Given the description of an element on the screen output the (x, y) to click on. 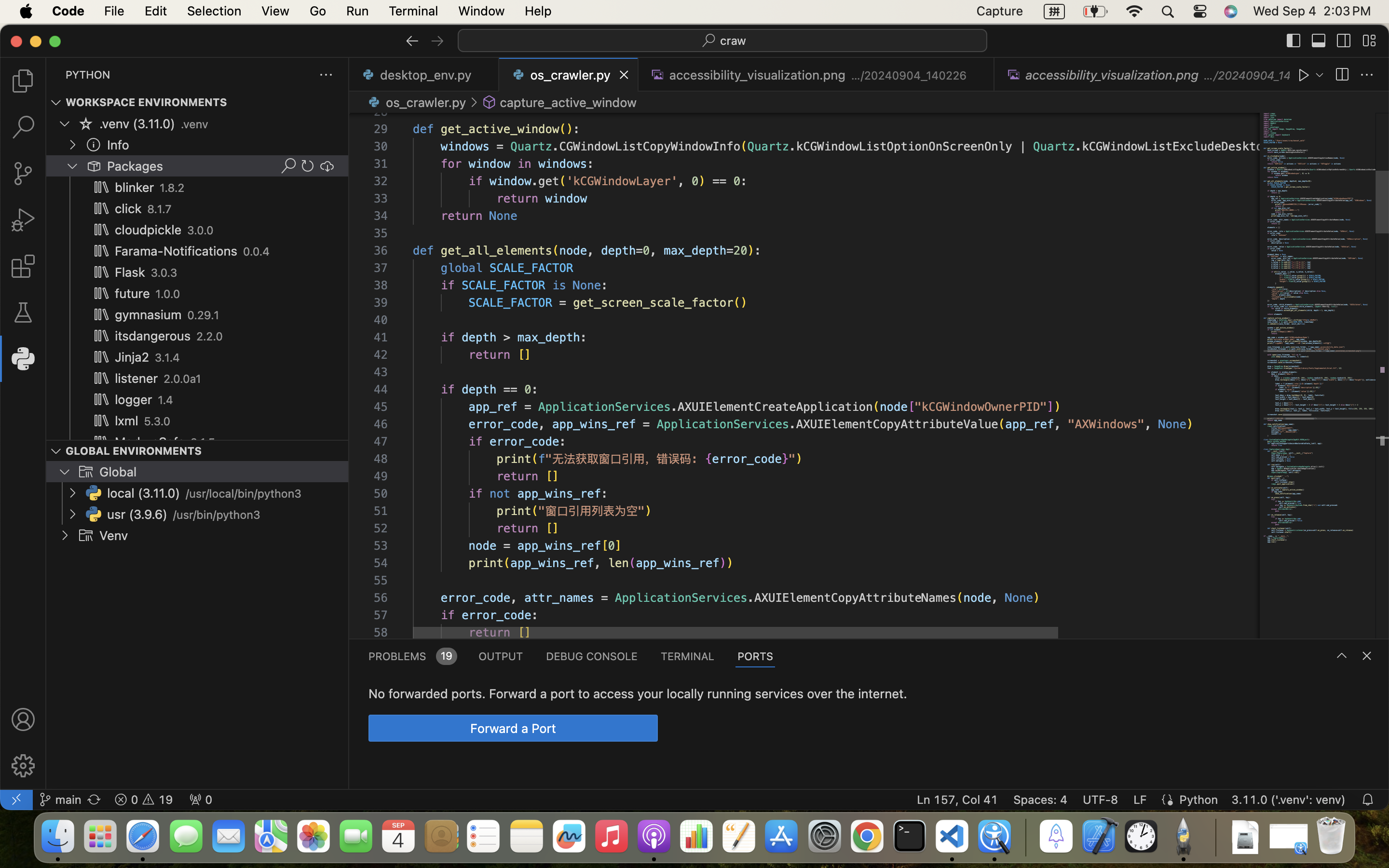
0.4285714328289032 Element type: AXDockItem (1024, 836)
3.1.4 Element type: AXStaticText (167, 357)
19  0  Element type: AXButton (143, 799)
0  Element type: AXRadioButton (23, 219)
1 PORTS Element type: AXRadioButton (755, 655)
